Given the description of an element on the screen output the (x, y) to click on. 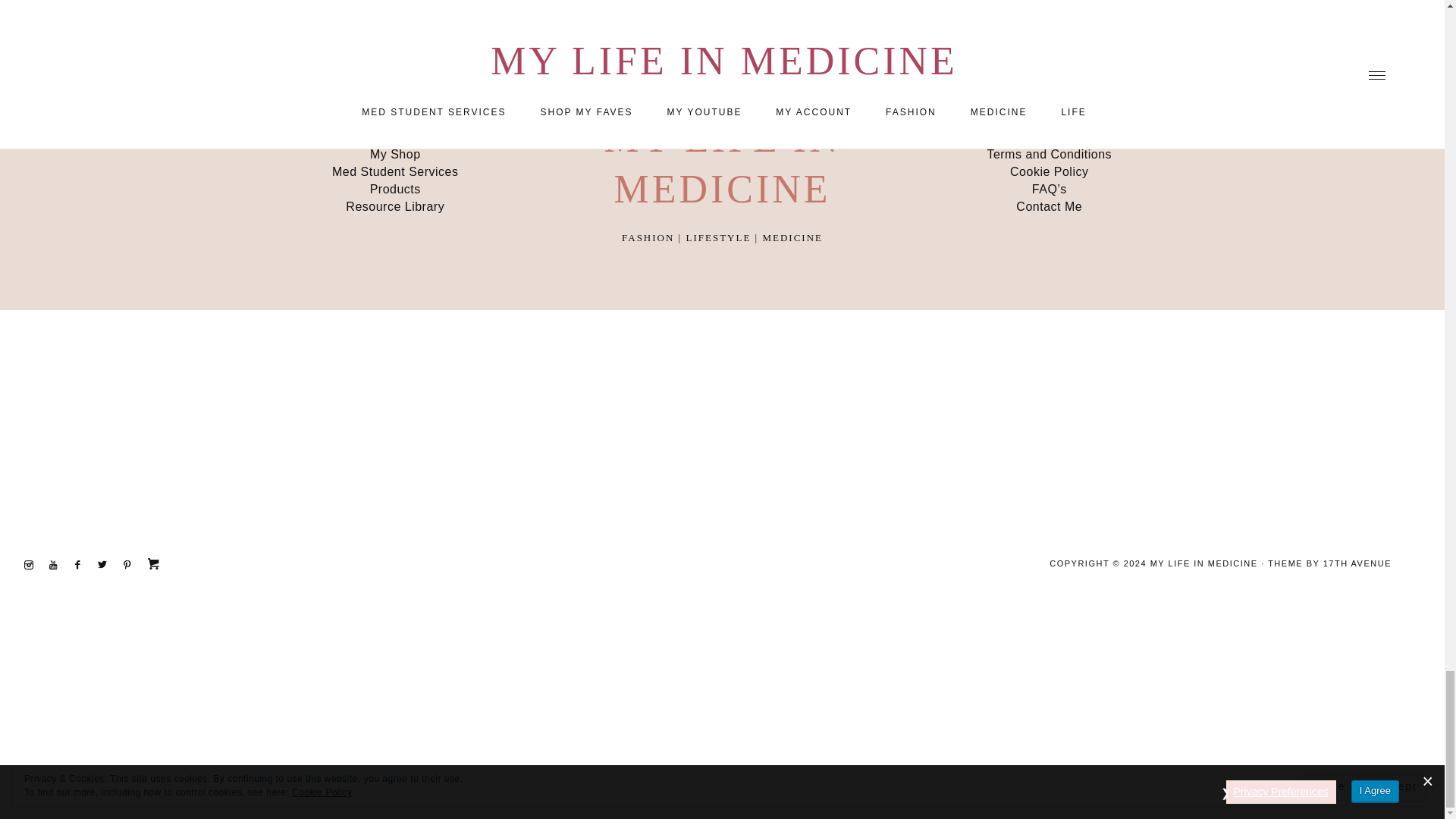
Instagram (33, 563)
